Given the description of an element on the screen output the (x, y) to click on. 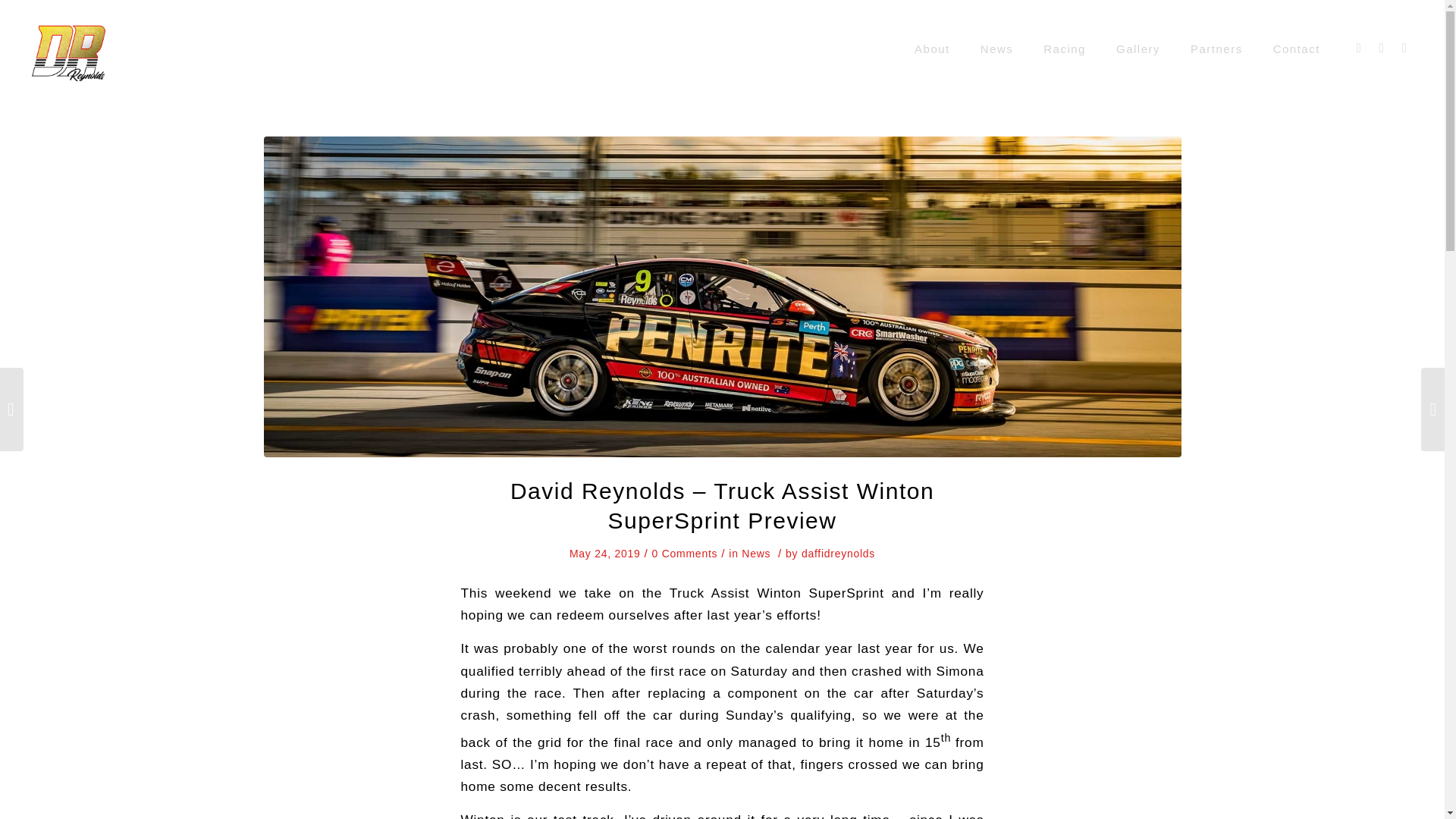
Twitter (1404, 47)
Racing (1063, 49)
Posts by daffidreynolds (838, 553)
News (997, 49)
News (755, 553)
Contact (1296, 49)
Instagram (1381, 47)
About (932, 49)
Partners (1215, 49)
0 Comments (684, 553)
Gallery (1137, 49)
daffidreynolds (838, 553)
Facebook (1359, 47)
